Given the description of an element on the screen output the (x, y) to click on. 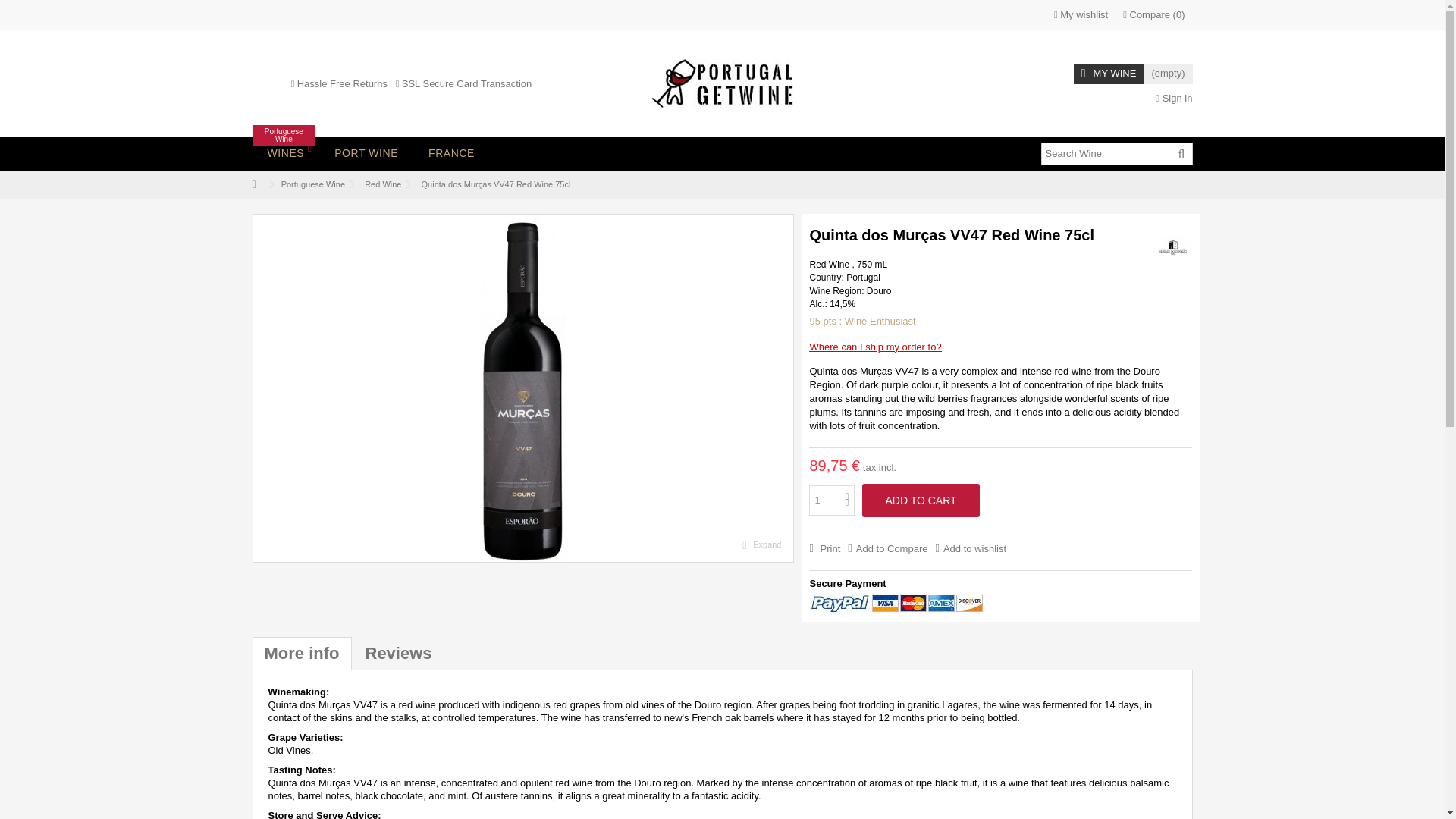
My wishlist (1080, 14)
1 (831, 500)
